Given the description of an element on the screen output the (x, y) to click on. 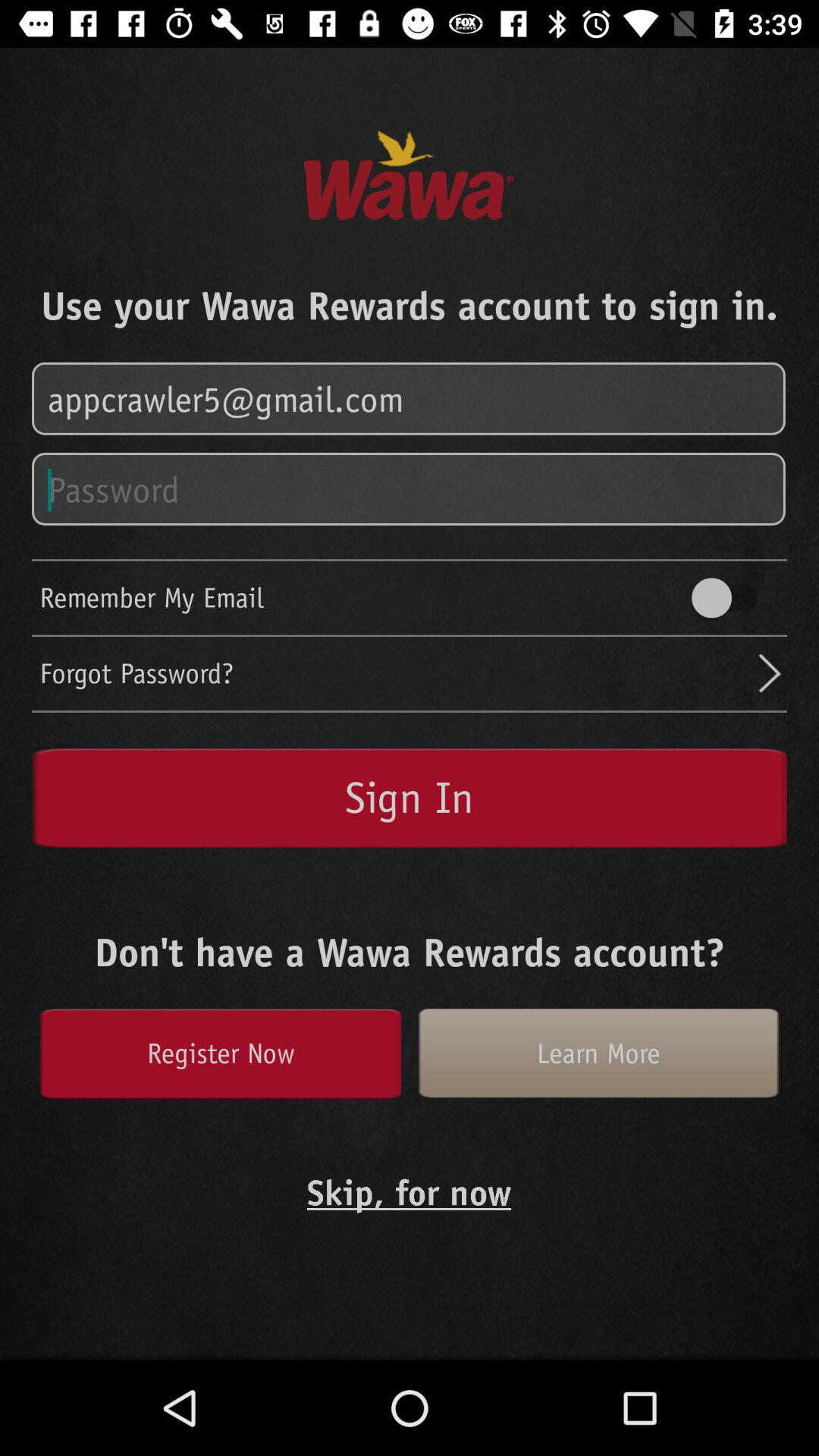
jump until appcrawler5@gmail.com (409, 399)
